Given the description of an element on the screen output the (x, y) to click on. 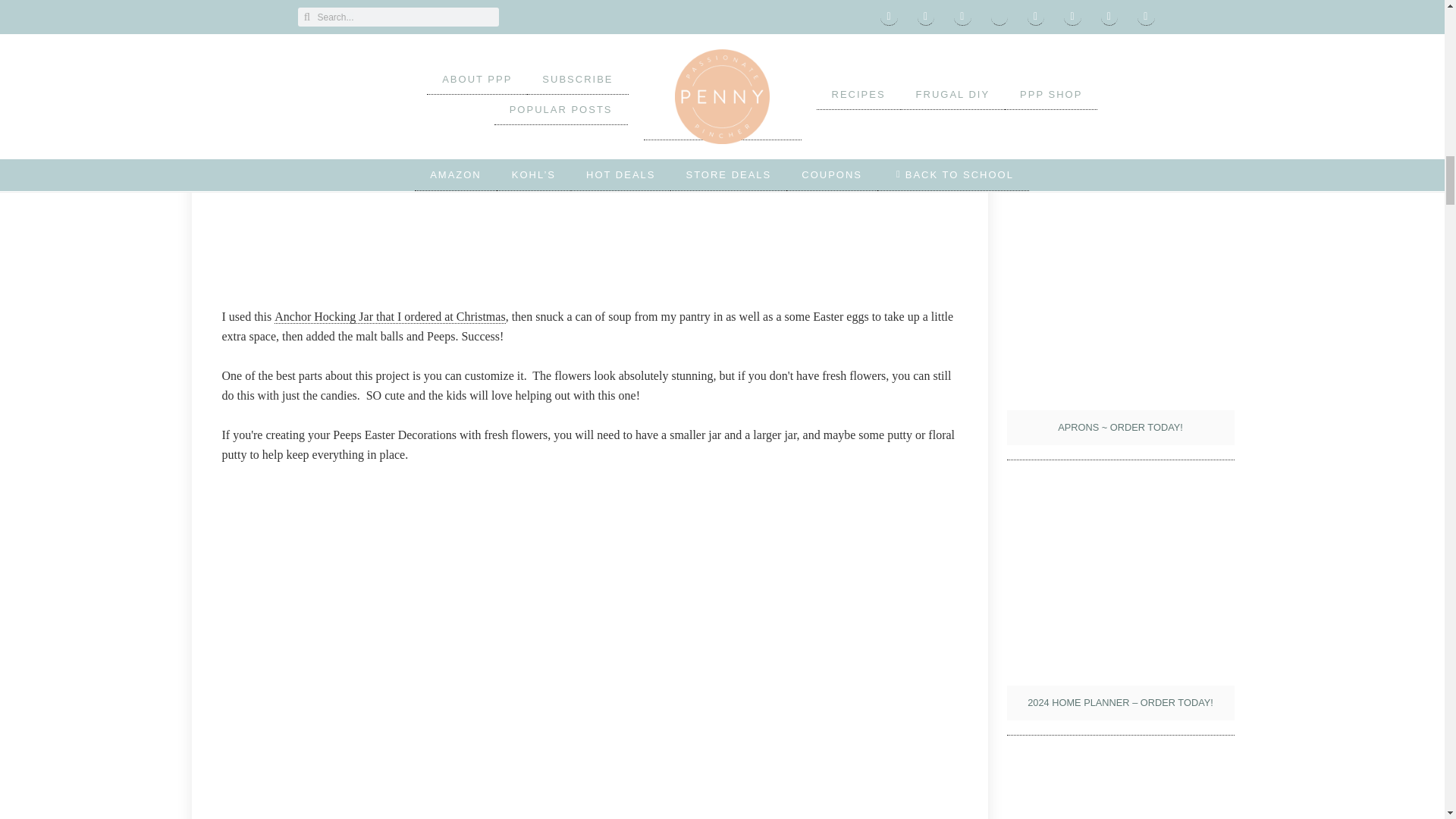
easter2 (588, 143)
